Given the description of an element on the screen output the (x, y) to click on. 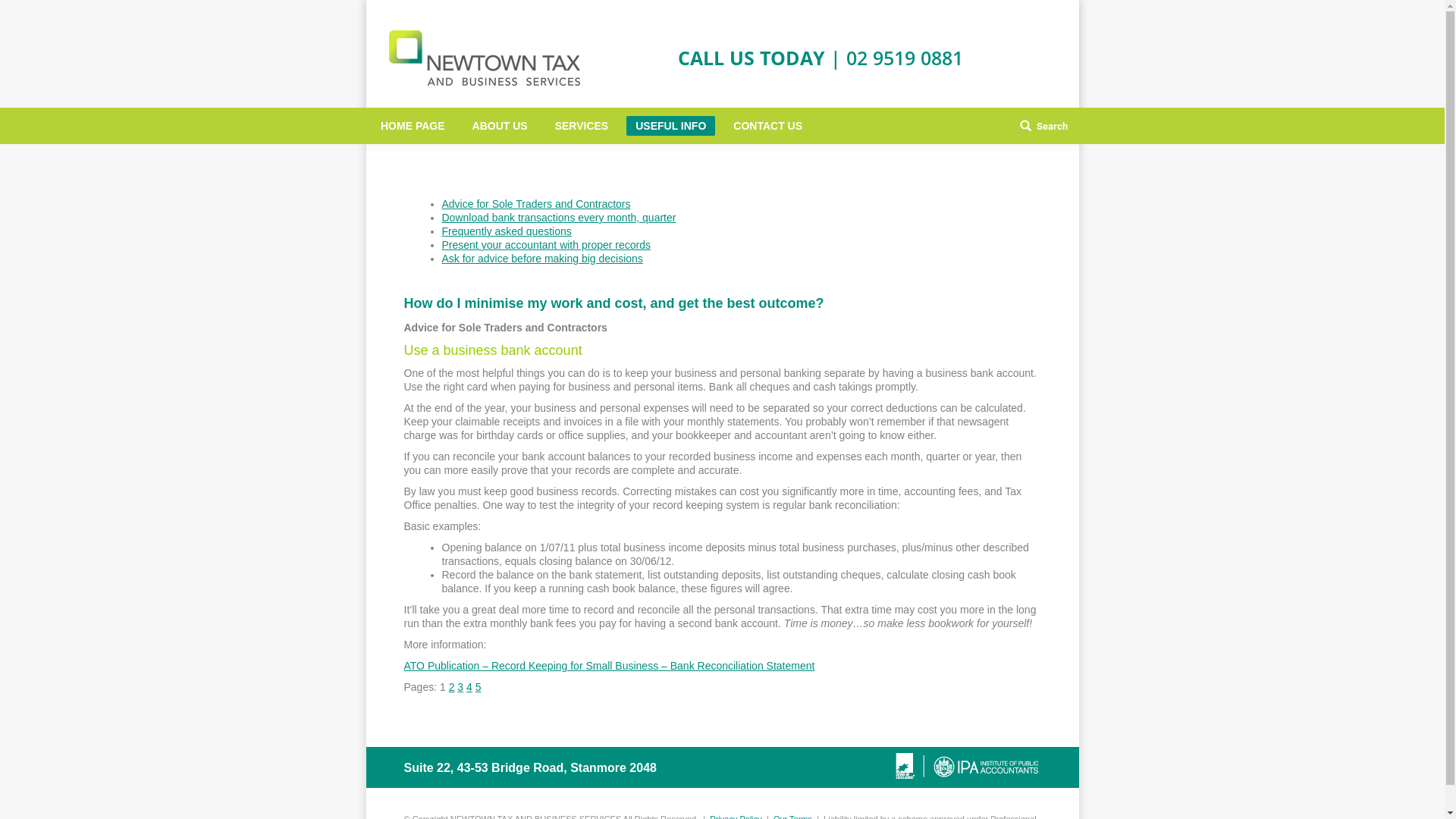
02 9519 0881 Element type: text (903, 57)
ABOUT US Element type: text (499, 125)
4 Element type: text (469, 686)
HOME PAGE Element type: text (412, 125)
Advice for Sole Traders and Contractors Element type: text (535, 203)
Suite 22, 43-53 Bridge Road, Stanmore 2048 Element type: text (529, 767)
Present your accountant with proper records Element type: text (545, 244)
2 Element type: text (451, 686)
Go! Element type: text (21, 14)
Frequently asked questions Element type: text (506, 231)
SERVICES Element type: text (581, 125)
Download bank transactions every month, quarter Element type: text (558, 217)
CONTACT US Element type: text (767, 125)
5 Element type: text (478, 686)
Ask for advice before making big decisions Element type: text (541, 258)
USEFUL INFO Element type: text (670, 125)
Search Element type: text (1042, 125)
3 Element type: text (460, 686)
